Given the description of an element on the screen output the (x, y) to click on. 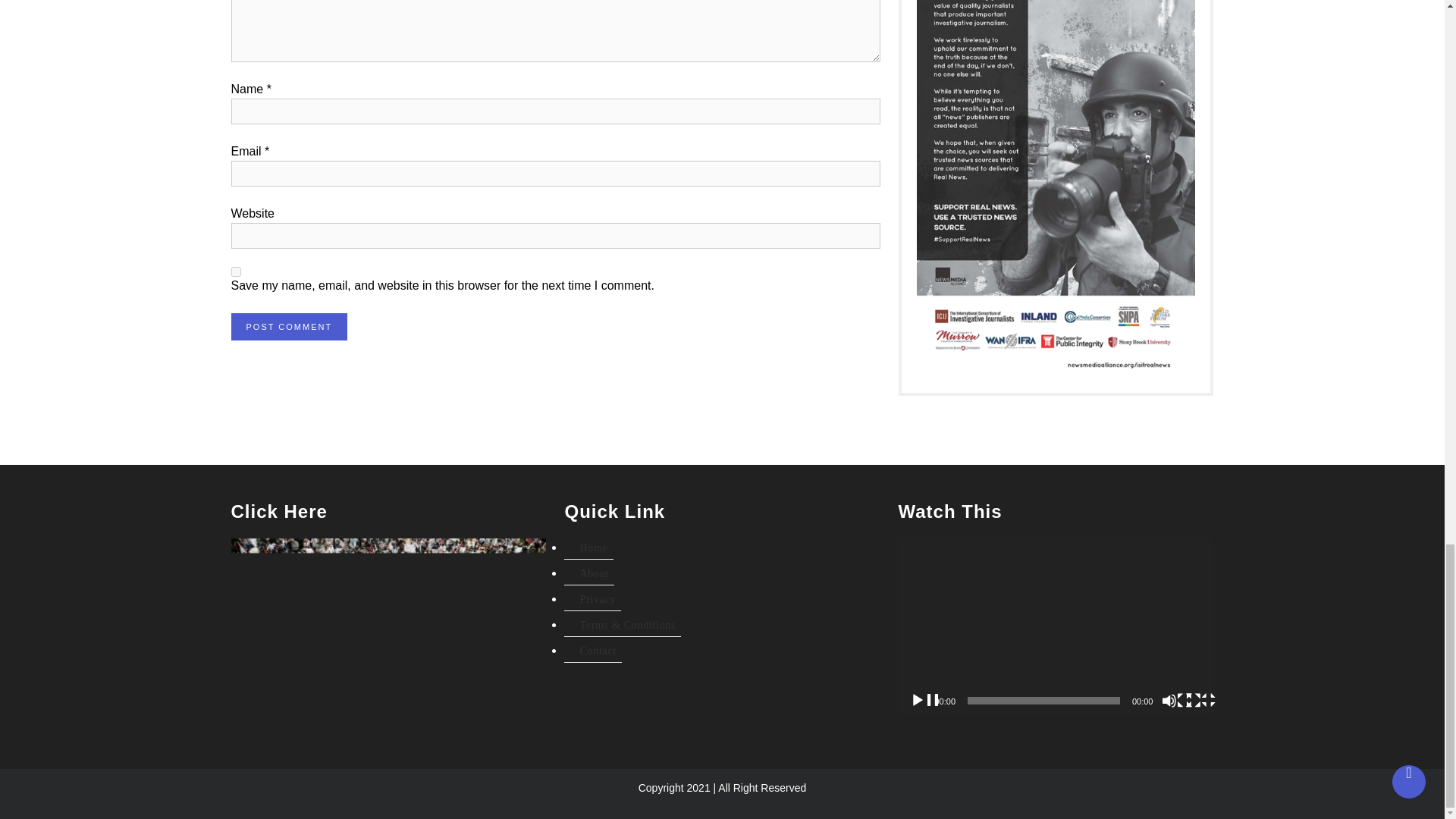
Post Comment (288, 326)
Fullscreen (1200, 700)
Mute (1176, 700)
Post Comment (288, 326)
yes (235, 271)
Play (925, 700)
